Given the description of an element on the screen output the (x, y) to click on. 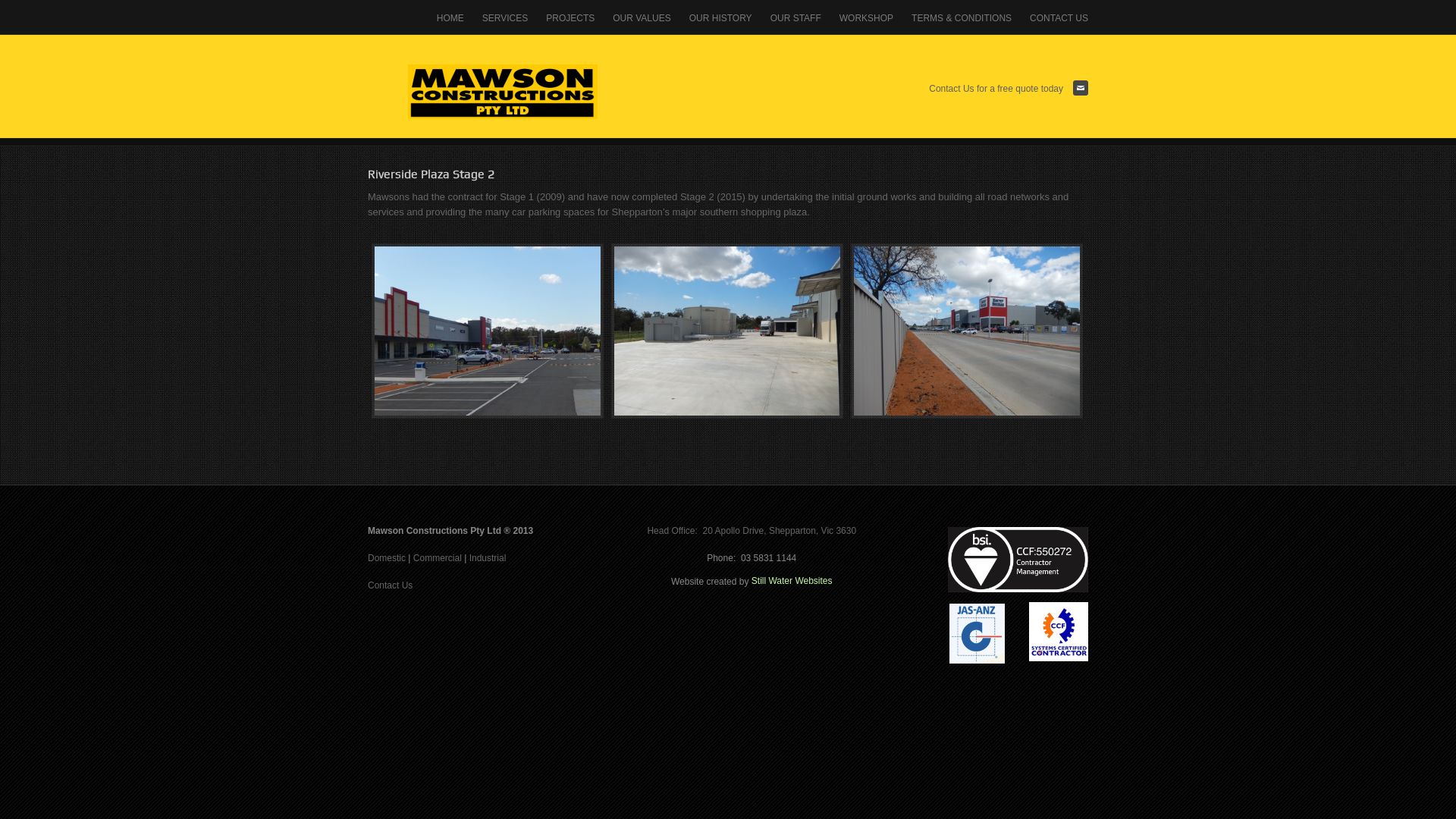
Still Water Websites Element type: text (791, 580)
HOME Element type: text (450, 17)
SERVICES Element type: text (504, 17)
Head Office:  20 Apollo Drive, Shepparton, Vic 3630 Element type: text (751, 530)
OUR VALUES Element type: text (641, 17)
TERMS & CONDITIONS Element type: text (961, 17)
CONTACT US Element type: text (1054, 17)
Domestic Element type: text (386, 557)
OUR STAFF Element type: text (795, 17)
OUR HISTORY Element type: text (720, 17)
WORKSHOP Element type: text (866, 17)
PROJECTS Element type: text (569, 17)
Commercial Element type: text (437, 557)
Industrial Element type: text (487, 557)
Contact Us Element type: text (389, 585)
